Given the description of an element on the screen output the (x, y) to click on. 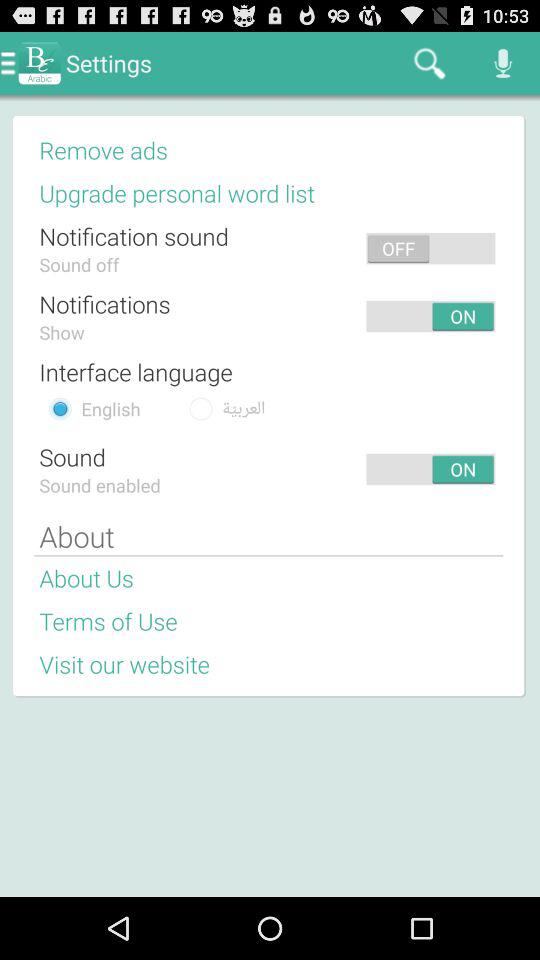
click the show icon (61, 331)
